Given the description of an element on the screen output the (x, y) to click on. 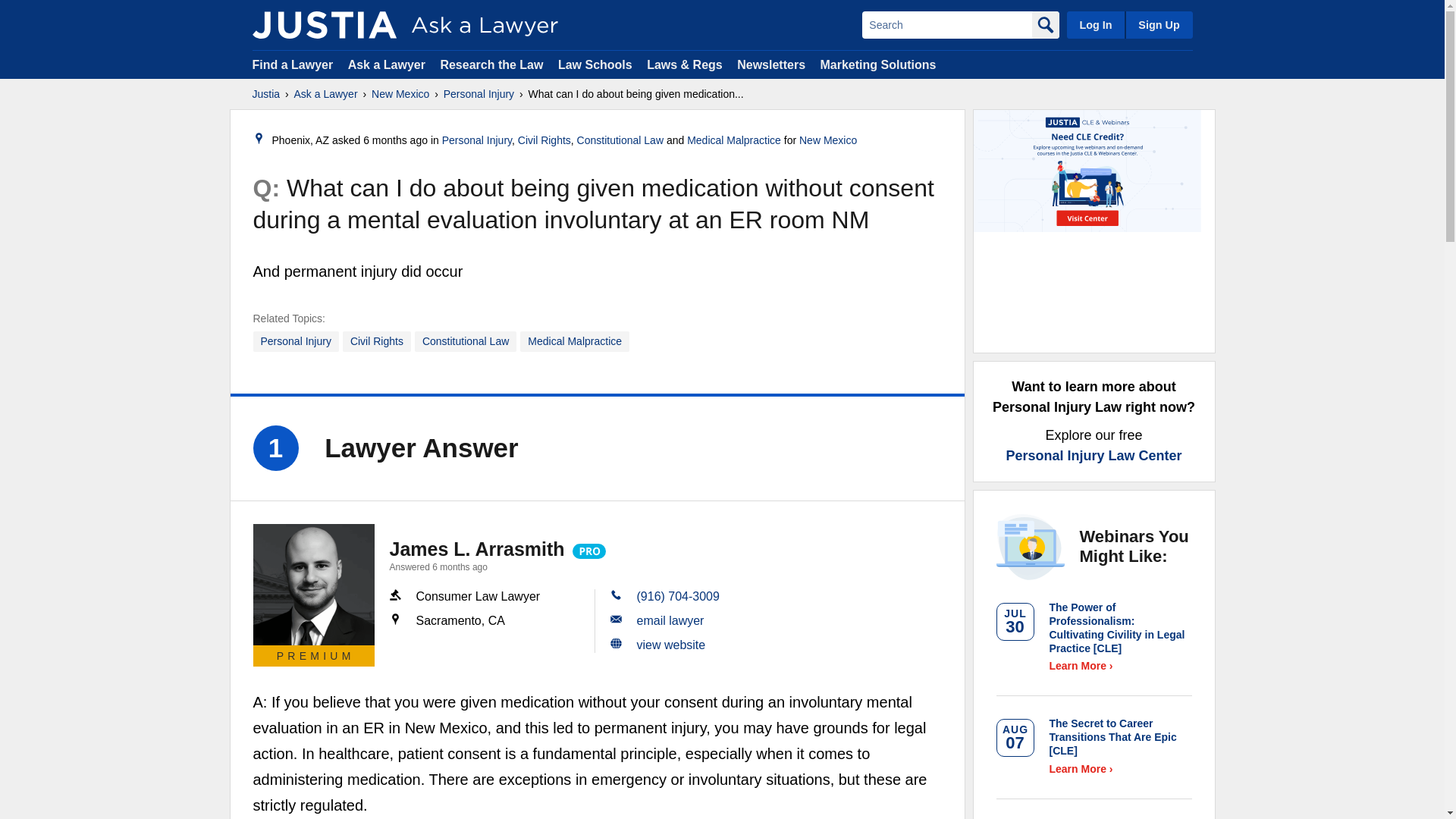
James L. Arrasmith (313, 584)
Justia (323, 24)
Marketing Solutions (877, 64)
Research the Law (491, 64)
2024-01-17T21:30:20-08:00 (395, 140)
Search (945, 24)
Justia (265, 93)
New Mexico (828, 140)
Civil Rights (544, 140)
Log In (1094, 24)
Personal Injury (296, 341)
Medical Malpractice (573, 341)
Newsletters (770, 64)
Find a Lawyer (292, 64)
Law Schools (594, 64)
